Given the description of an element on the screen output the (x, y) to click on. 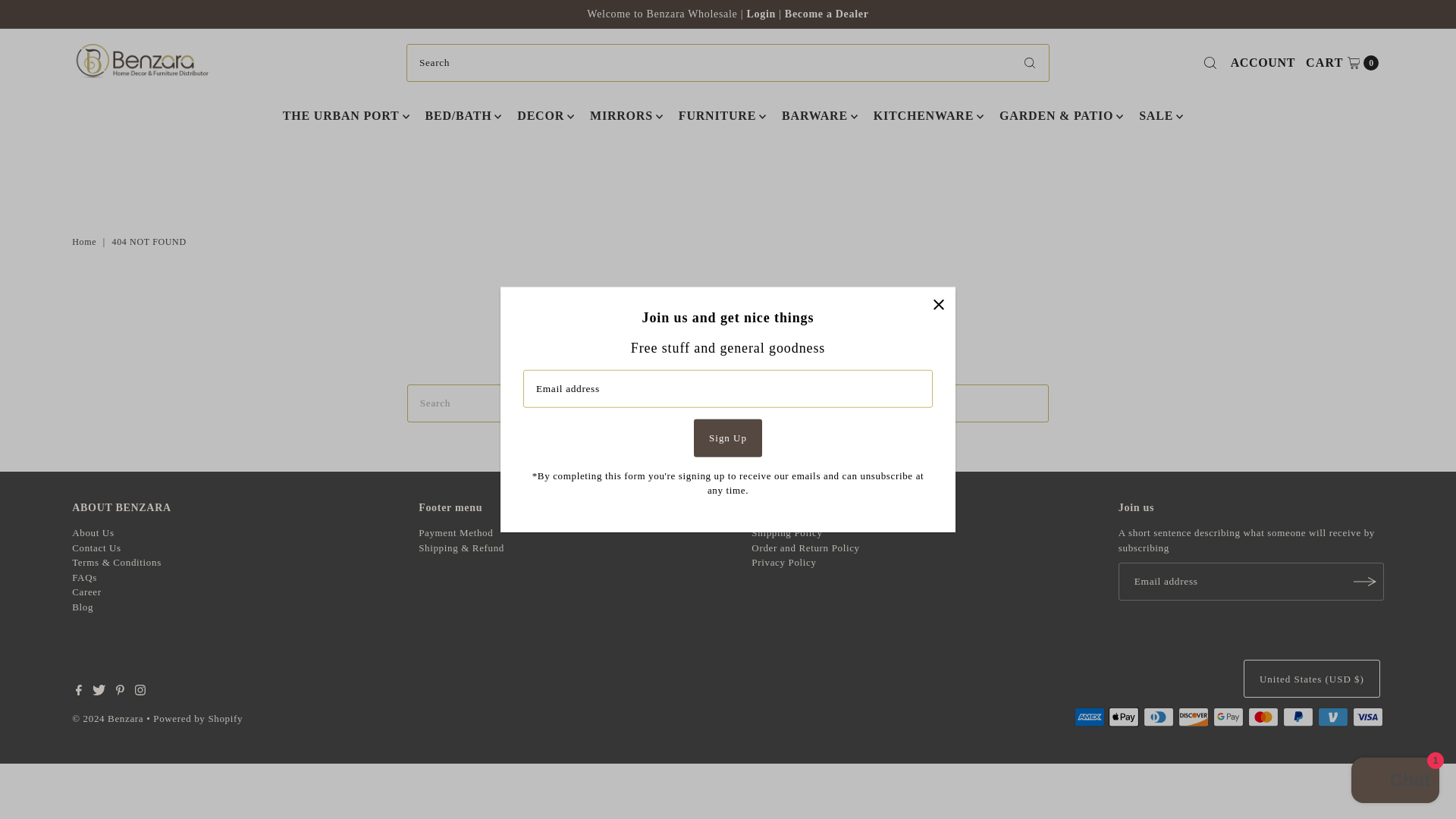
Become a Dealer (1341, 62)
Sign Up (826, 13)
American Express (727, 437)
Apple Pay (1089, 716)
THE URBAN PORT (1123, 716)
Home (340, 116)
Diners Club (85, 241)
Login (1157, 716)
ACCOUNT (761, 13)
